Given the description of an element on the screen output the (x, y) to click on. 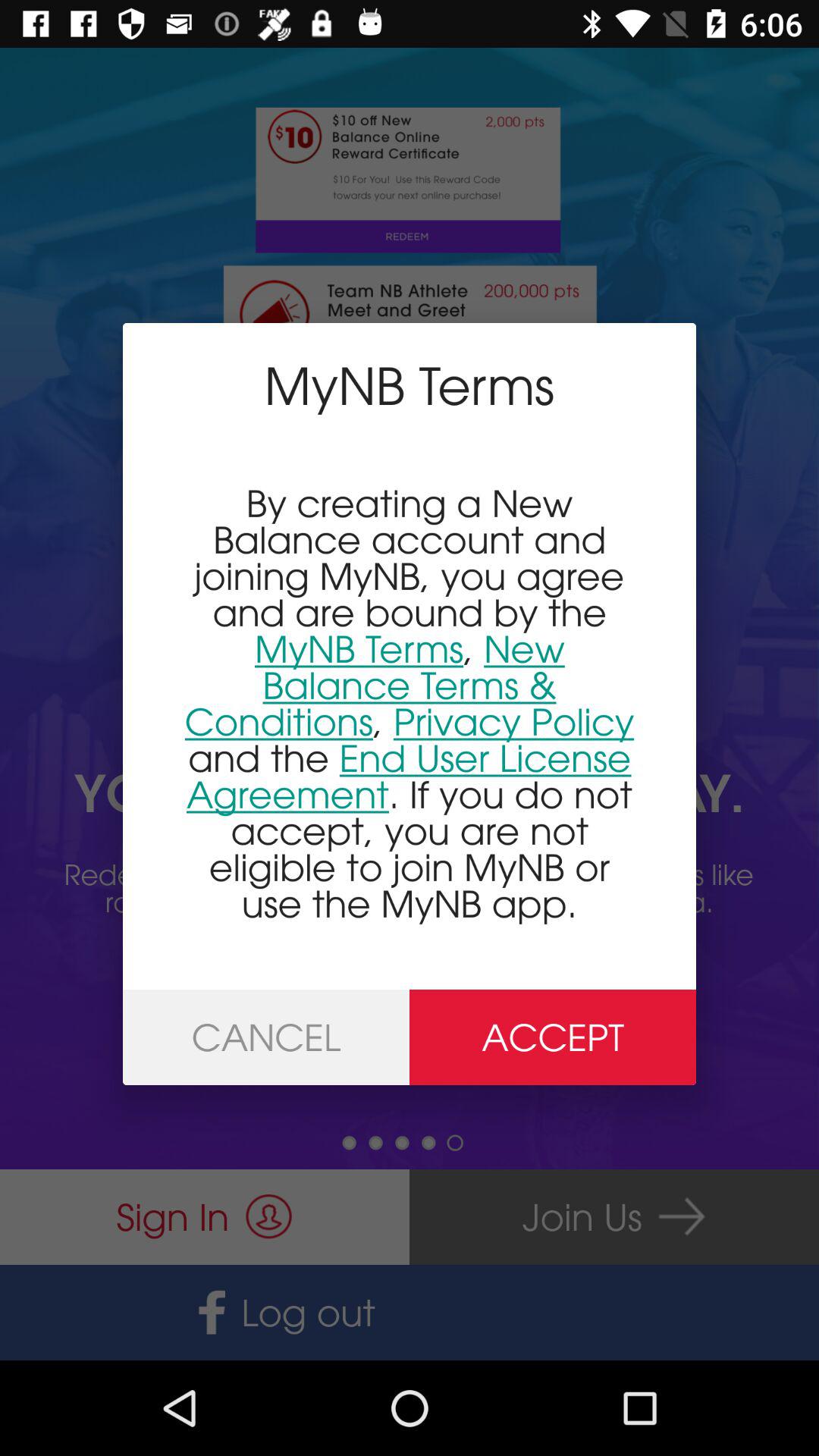
turn off the icon next to cancel (552, 1037)
